Given the description of an element on the screen output the (x, y) to click on. 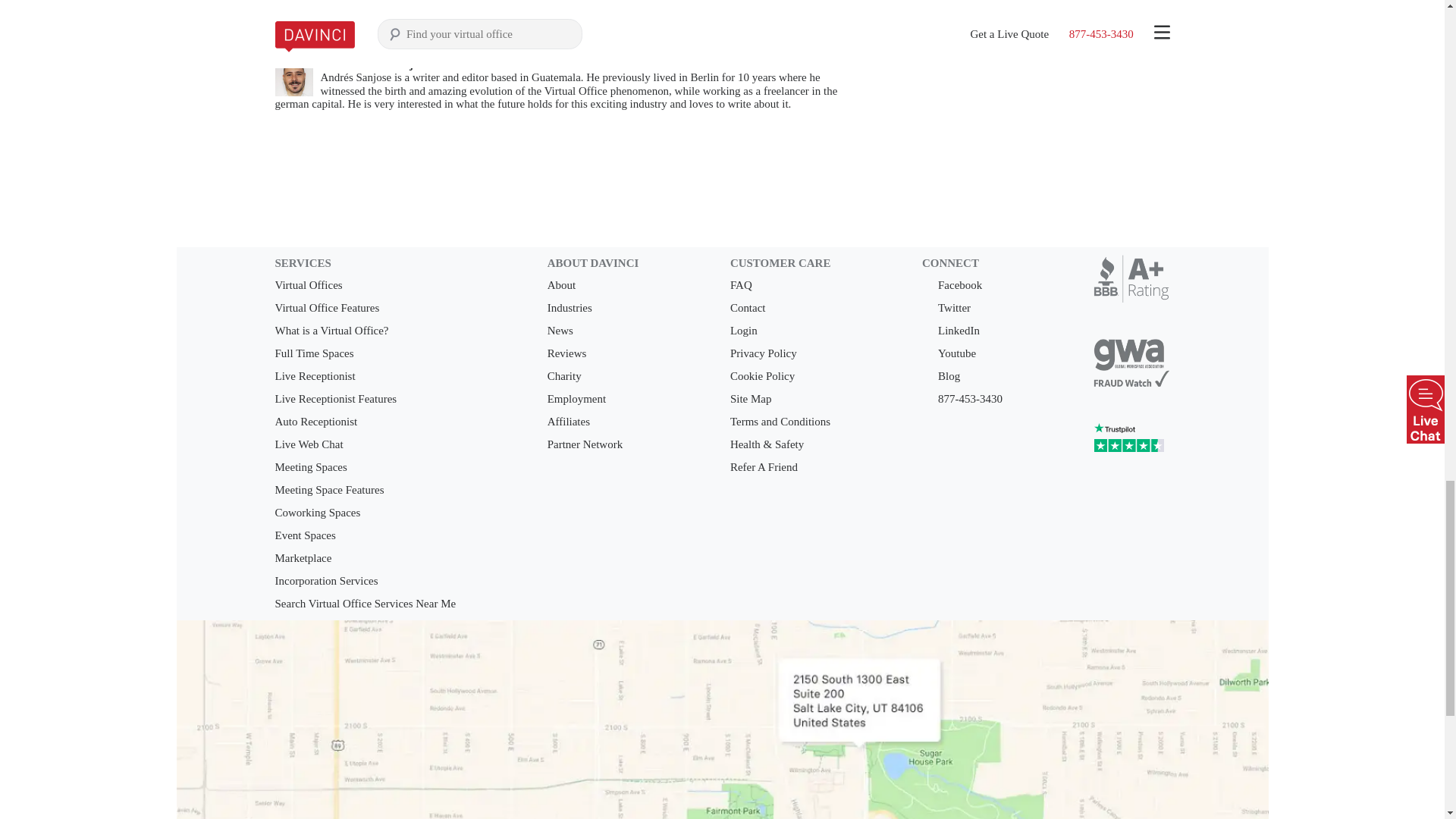
Customer reviews powered by Trustpilot (1131, 440)
Author Image (294, 77)
